Given the description of an element on the screen output the (x, y) to click on. 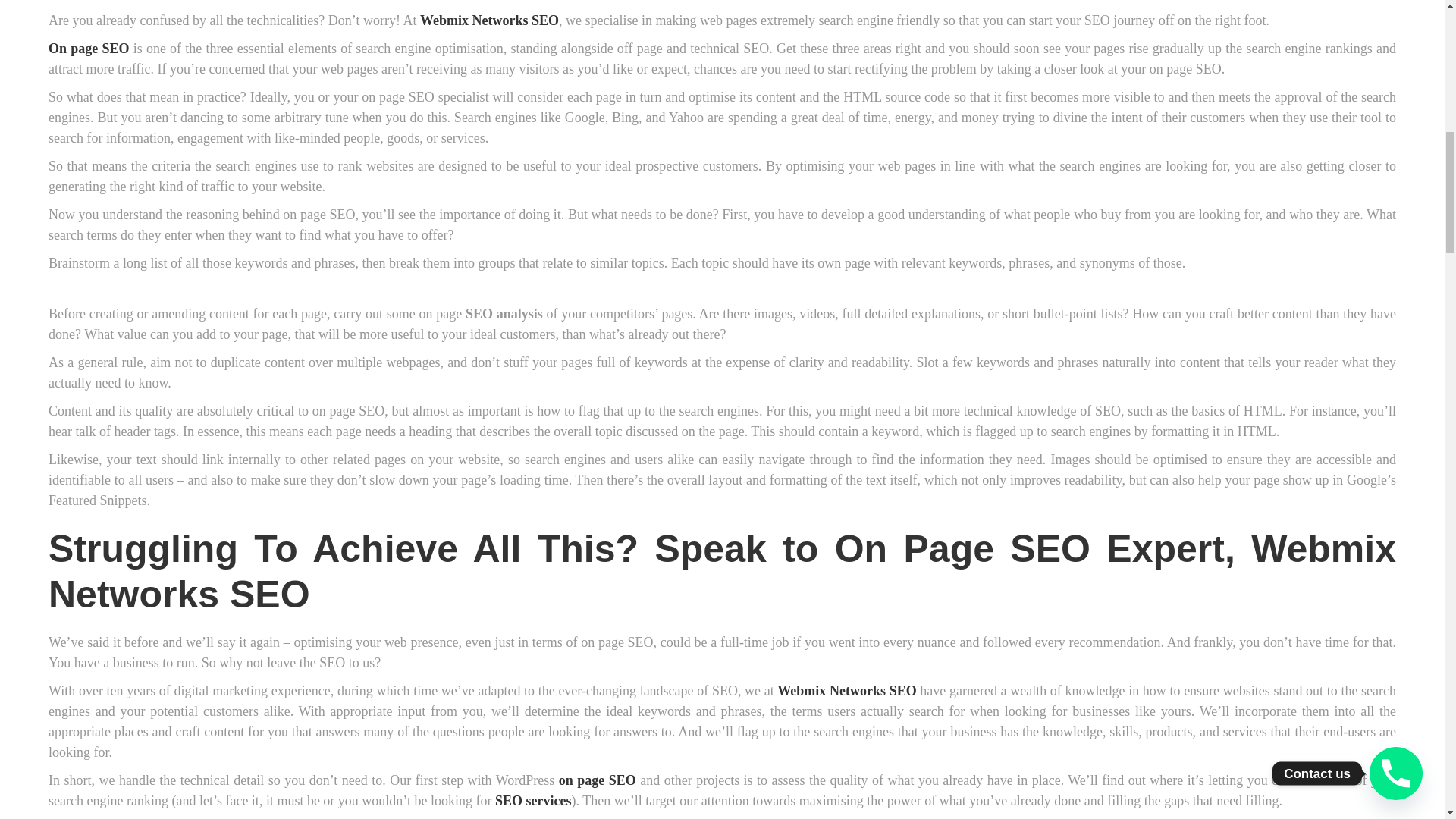
SEO services (533, 800)
Webmix Networks SEO (489, 20)
Webmix Networks SEO (846, 690)
